Given the description of an element on the screen output the (x, y) to click on. 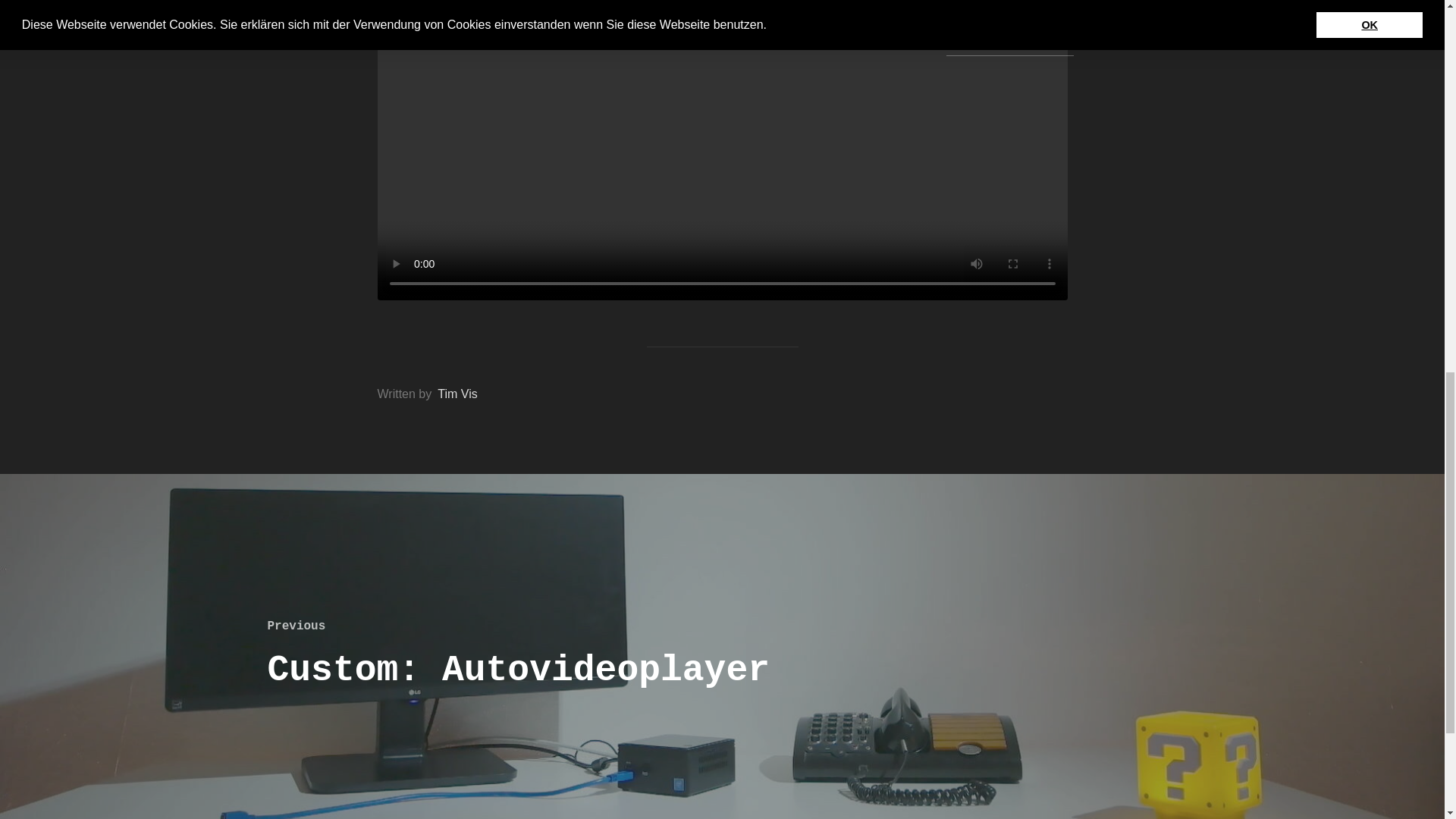
Posts by Tim Vis (457, 393)
Tim Vis (457, 393)
